Given the description of an element on the screen output the (x, y) to click on. 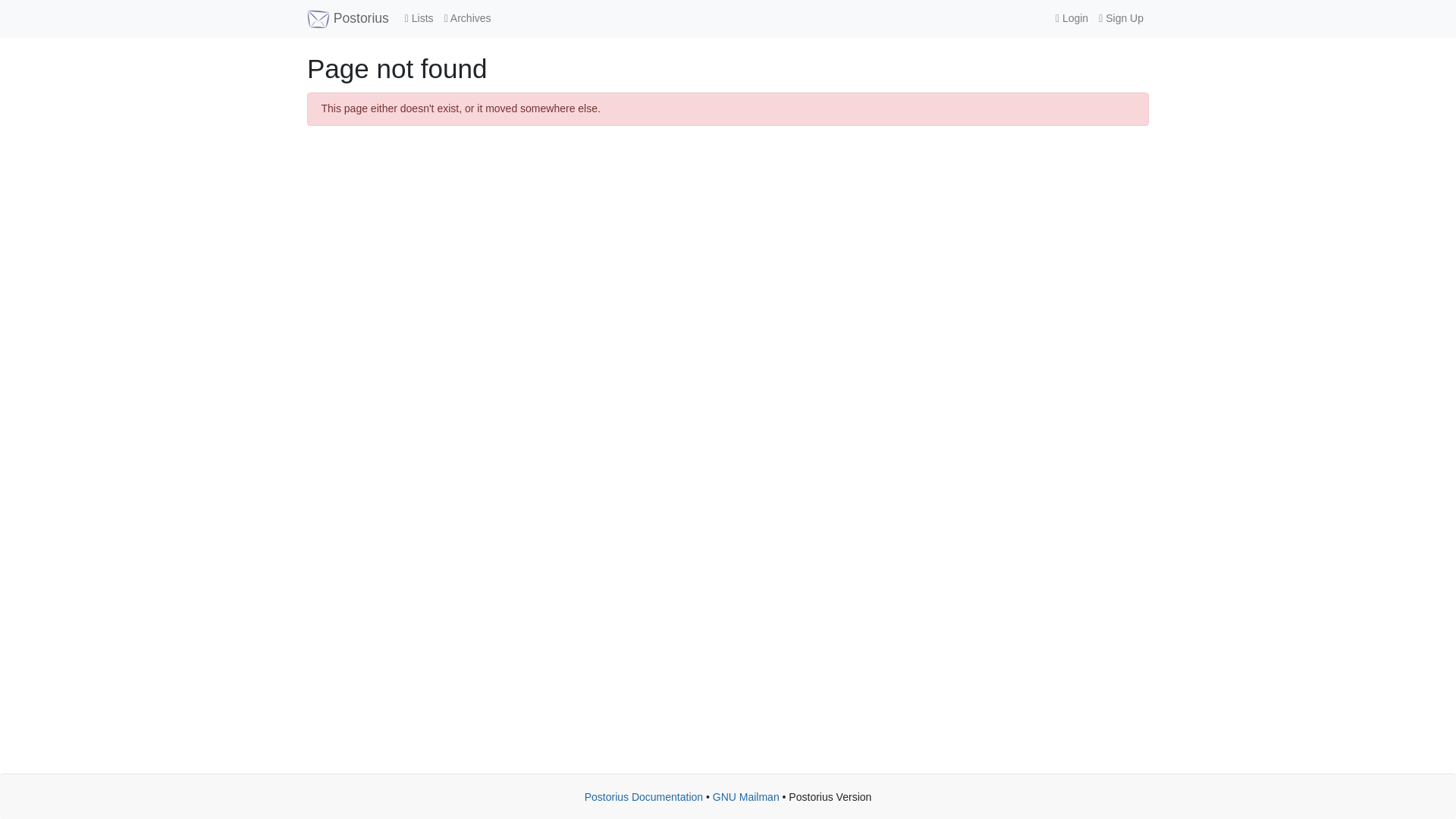
Postorius (347, 18)
Lists (418, 17)
Archives (467, 17)
Sign Up (1120, 17)
Login (1071, 17)
